Given the description of an element on the screen output the (x, y) to click on. 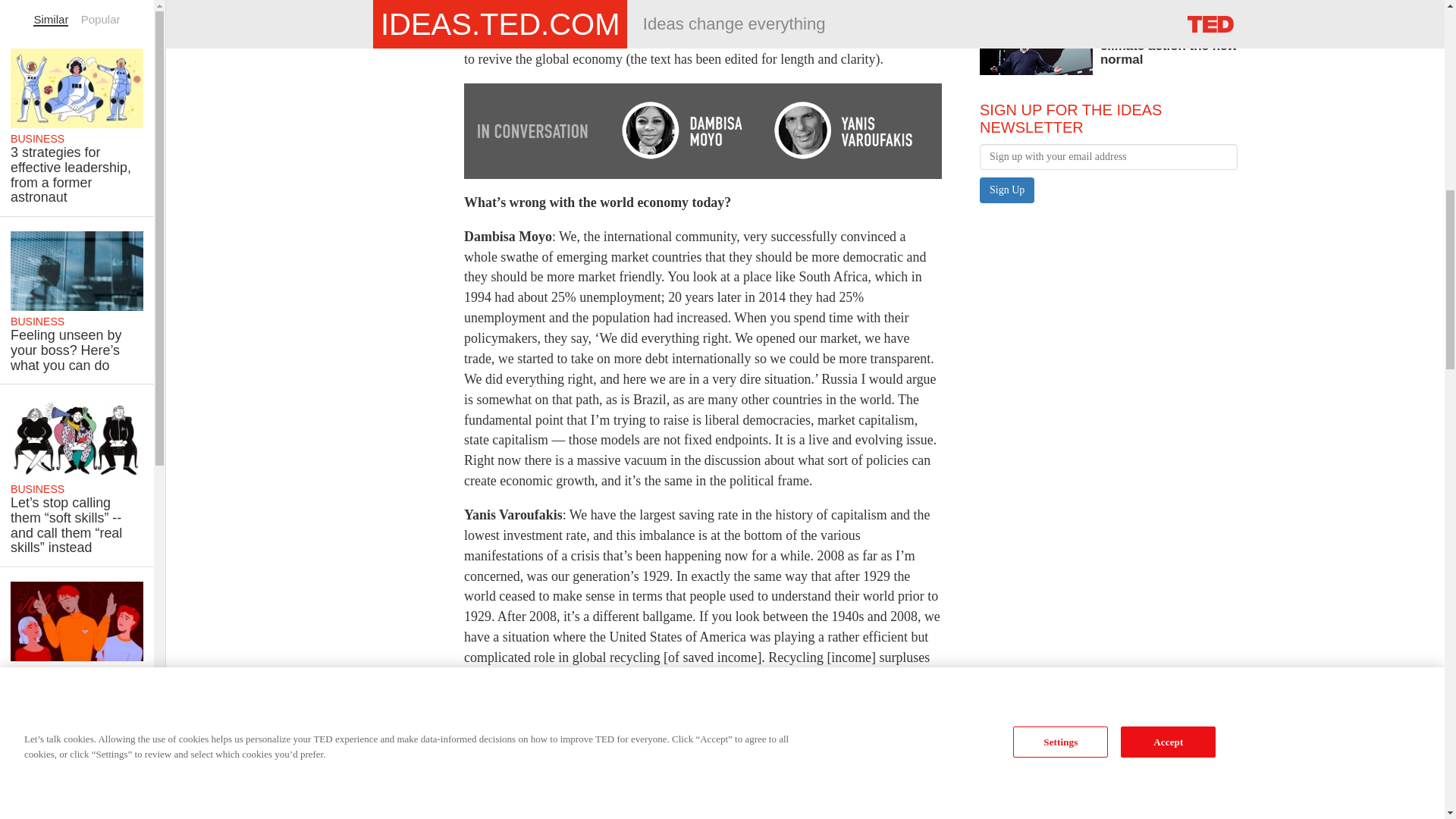
Sign Up (1006, 190)
Sign Up (1006, 190)
